Given the description of an element on the screen output the (x, y) to click on. 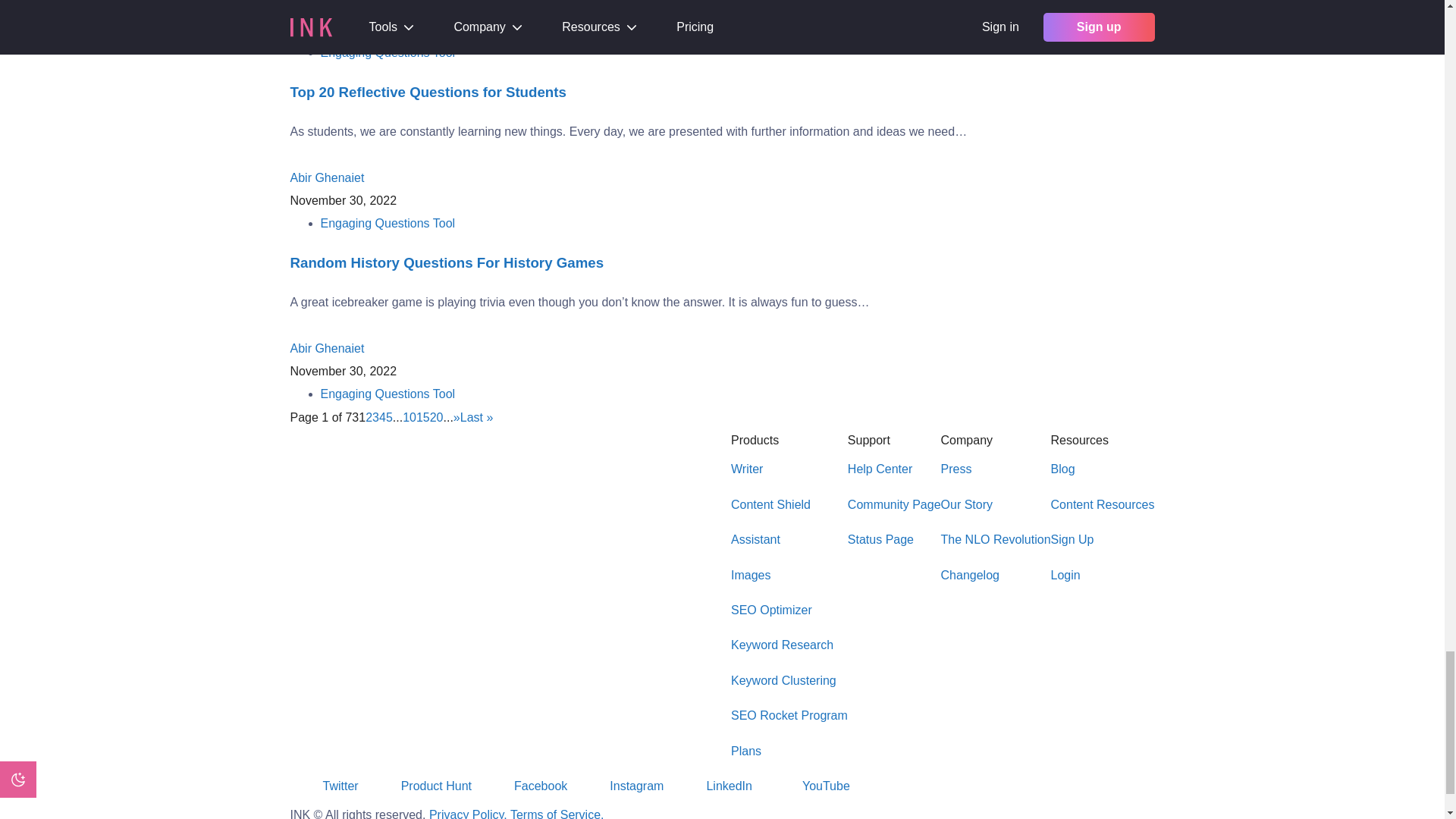
Page 15 (422, 417)
Page 20 (436, 417)
Page 10 (409, 417)
Page 5 (389, 417)
Page 2 (368, 417)
Page 4 (381, 417)
Page 3 (375, 417)
